Given the description of an element on the screen output the (x, y) to click on. 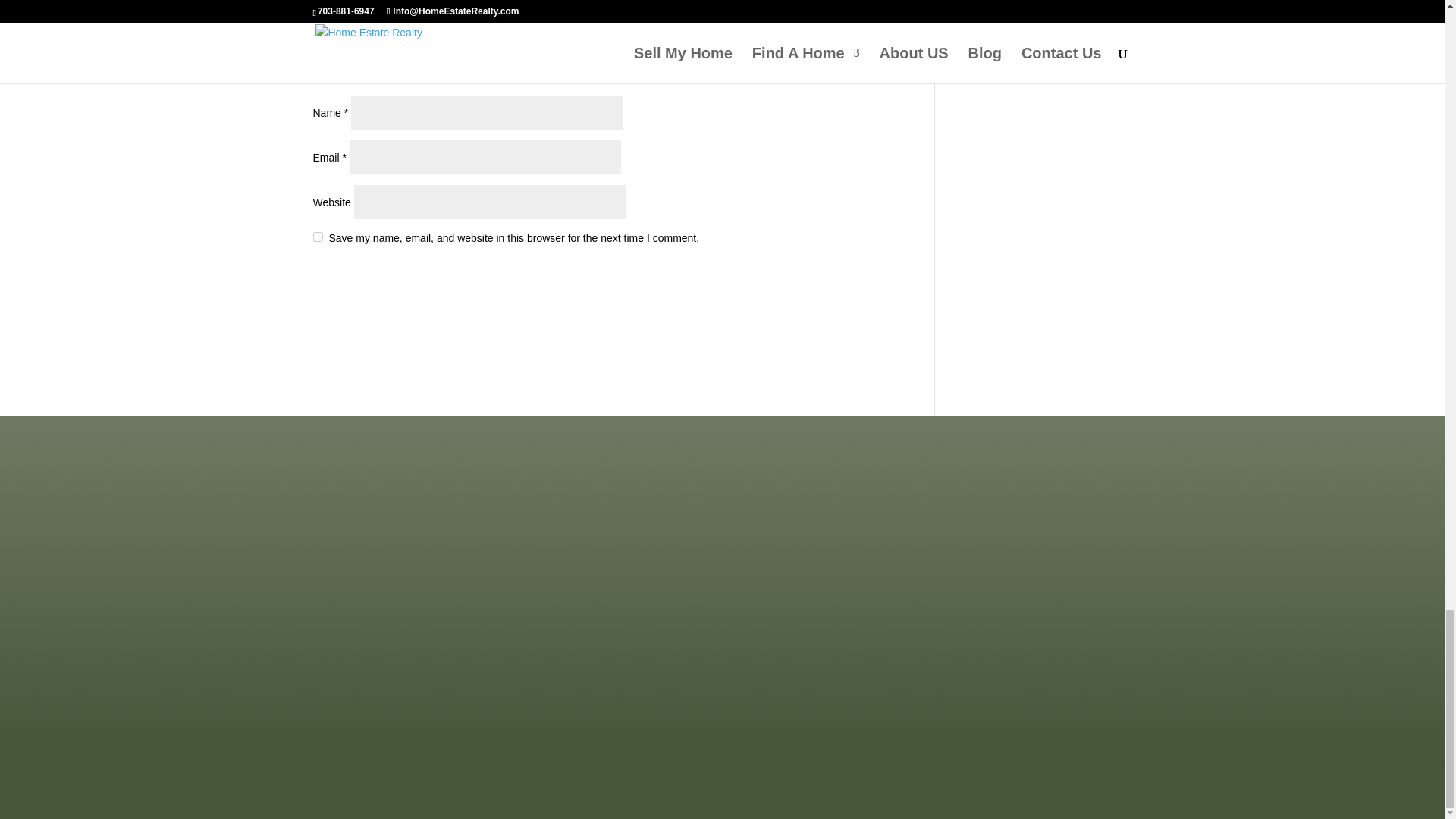
Submit Comment (814, 277)
Submit Comment (814, 277)
yes (317, 236)
